Given the description of an element on the screen output the (x, y) to click on. 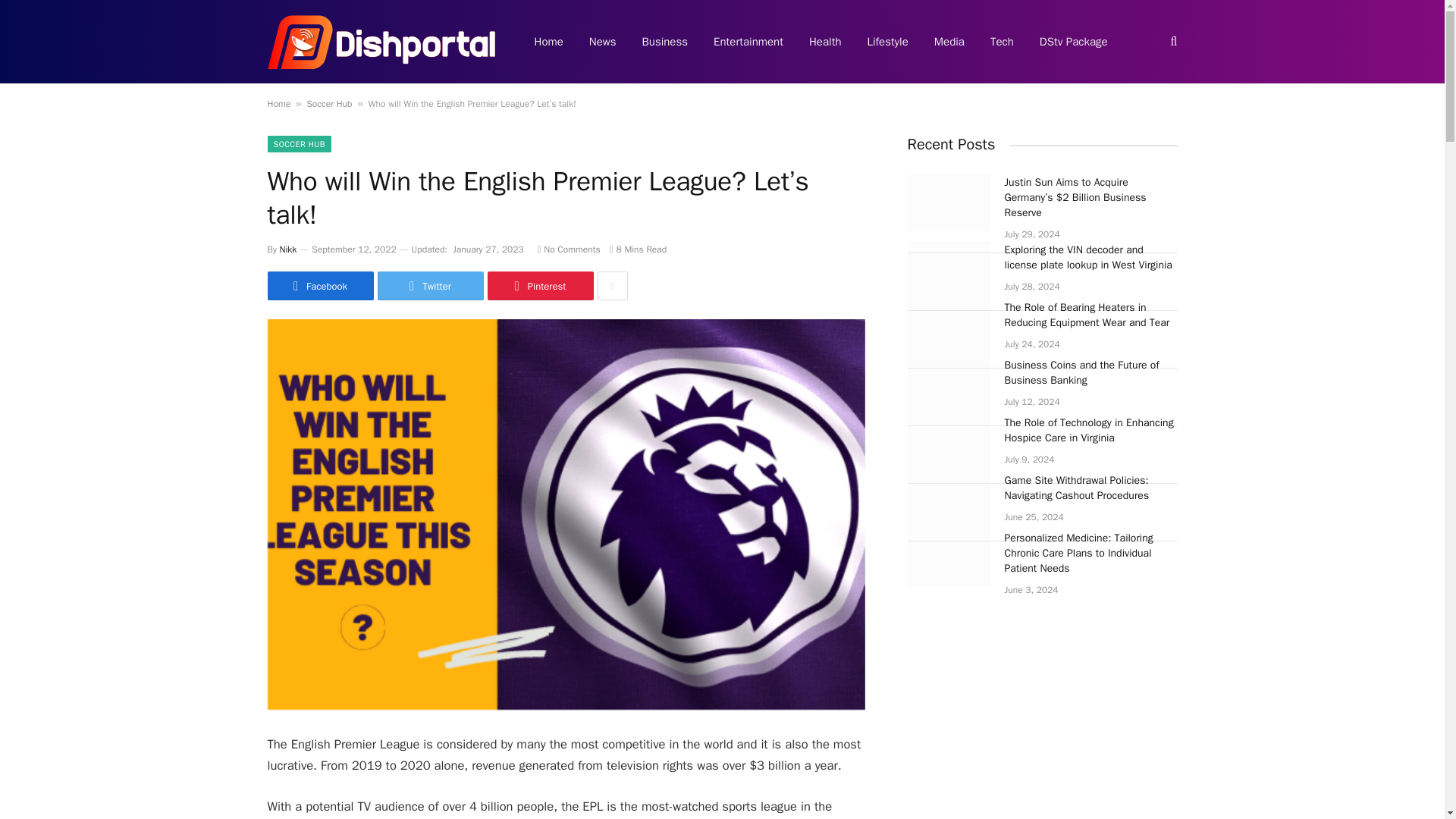
Posts by Nikk (288, 249)
No Comments (568, 249)
SOCCER HUB (298, 143)
Home (277, 103)
Pinterest (539, 285)
Share on Facebook (319, 285)
Nikk (288, 249)
Soccer Hub (328, 103)
Entertainment (748, 41)
Dish Portal (380, 41)
Twitter (430, 285)
Share on Pinterest (539, 285)
DStv Package (1073, 41)
Show More Social Sharing (611, 285)
Facebook (319, 285)
